Given the description of an element on the screen output the (x, y) to click on. 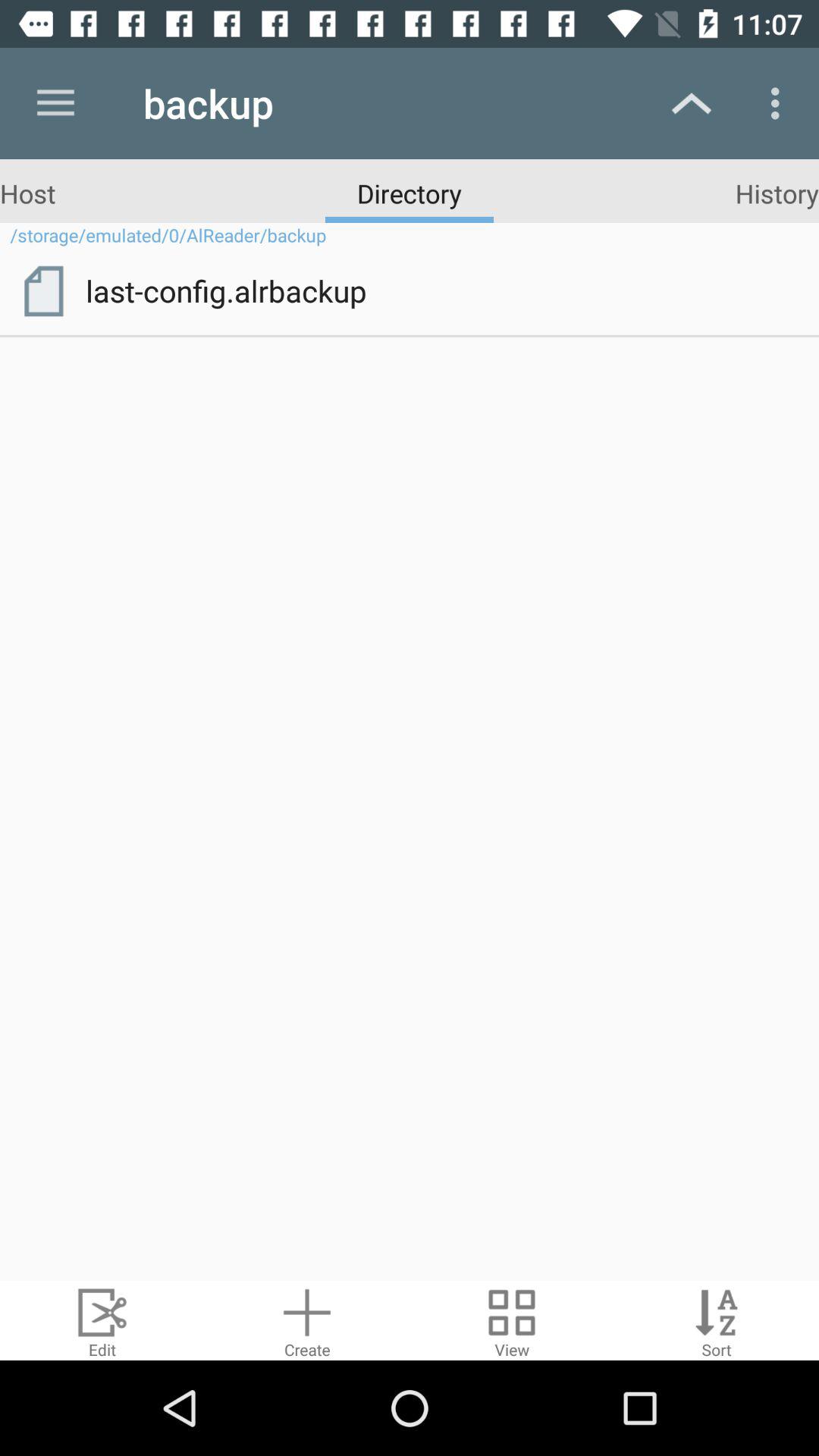
turn off item below storage emulated 0 item (441, 290)
